Given the description of an element on the screen output the (x, y) to click on. 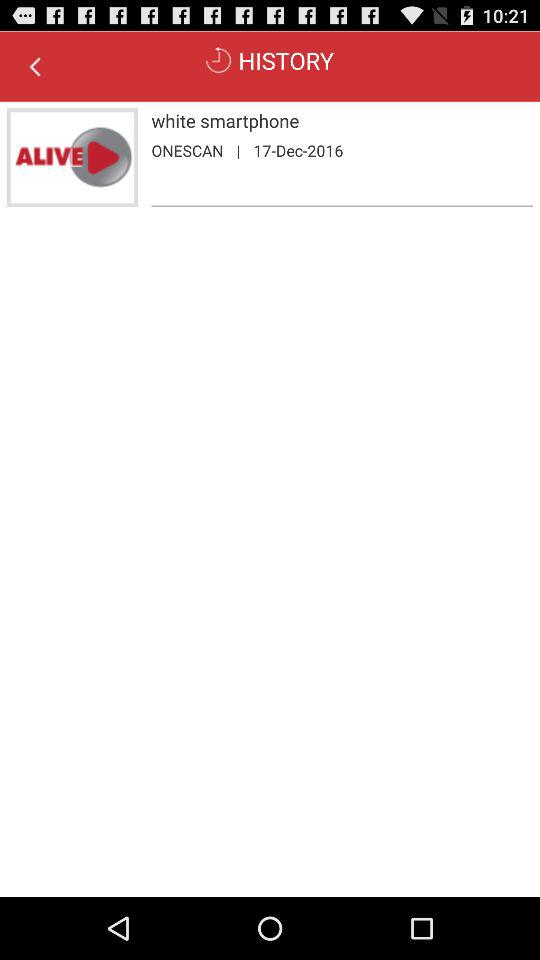
swipe to onescan (187, 150)
